Given the description of an element on the screen output the (x, y) to click on. 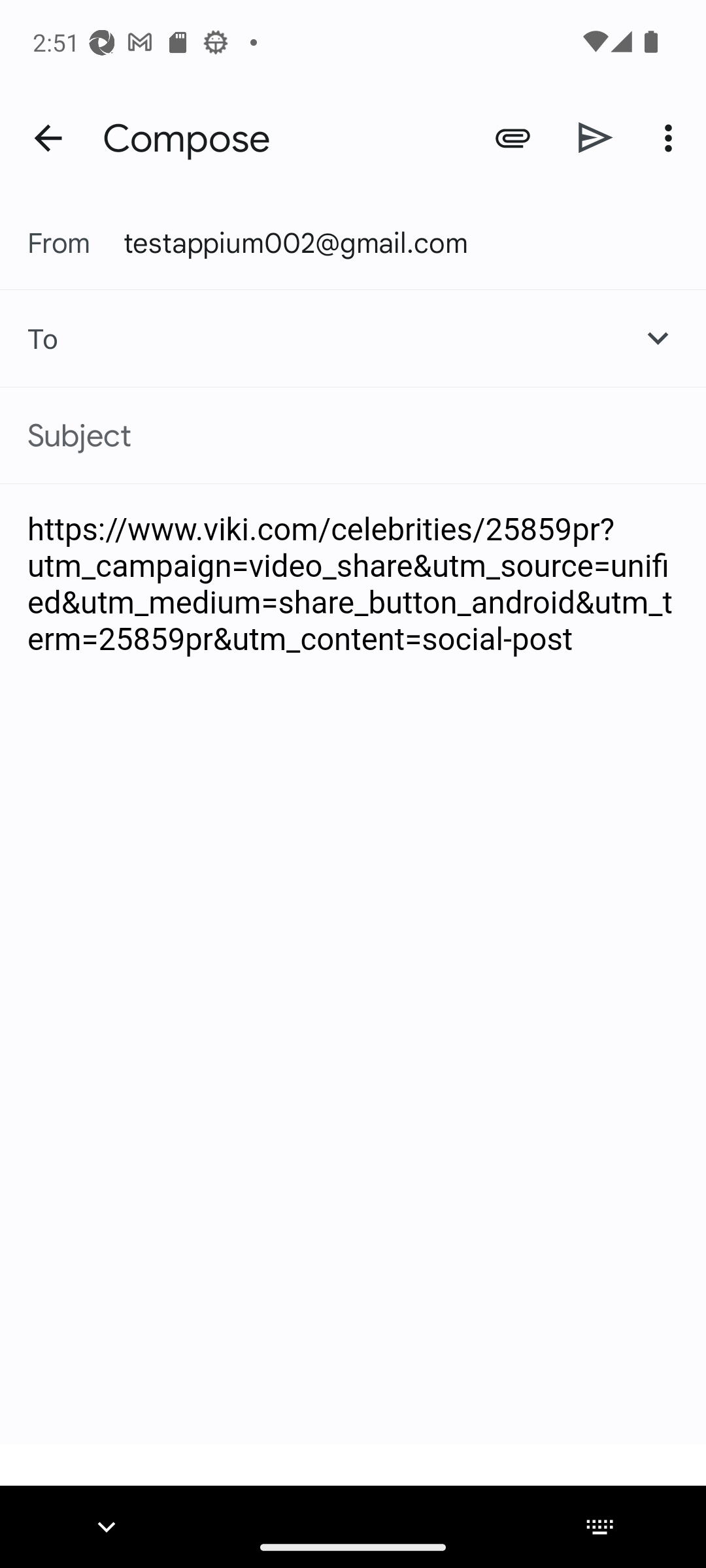
Navigate up (48, 138)
Attach file (512, 137)
Send (595, 137)
More options (671, 137)
From (75, 241)
Add Cc/Bcc (657, 337)
To (28, 338)
Subject (352, 434)
